Given the description of an element on the screen output the (x, y) to click on. 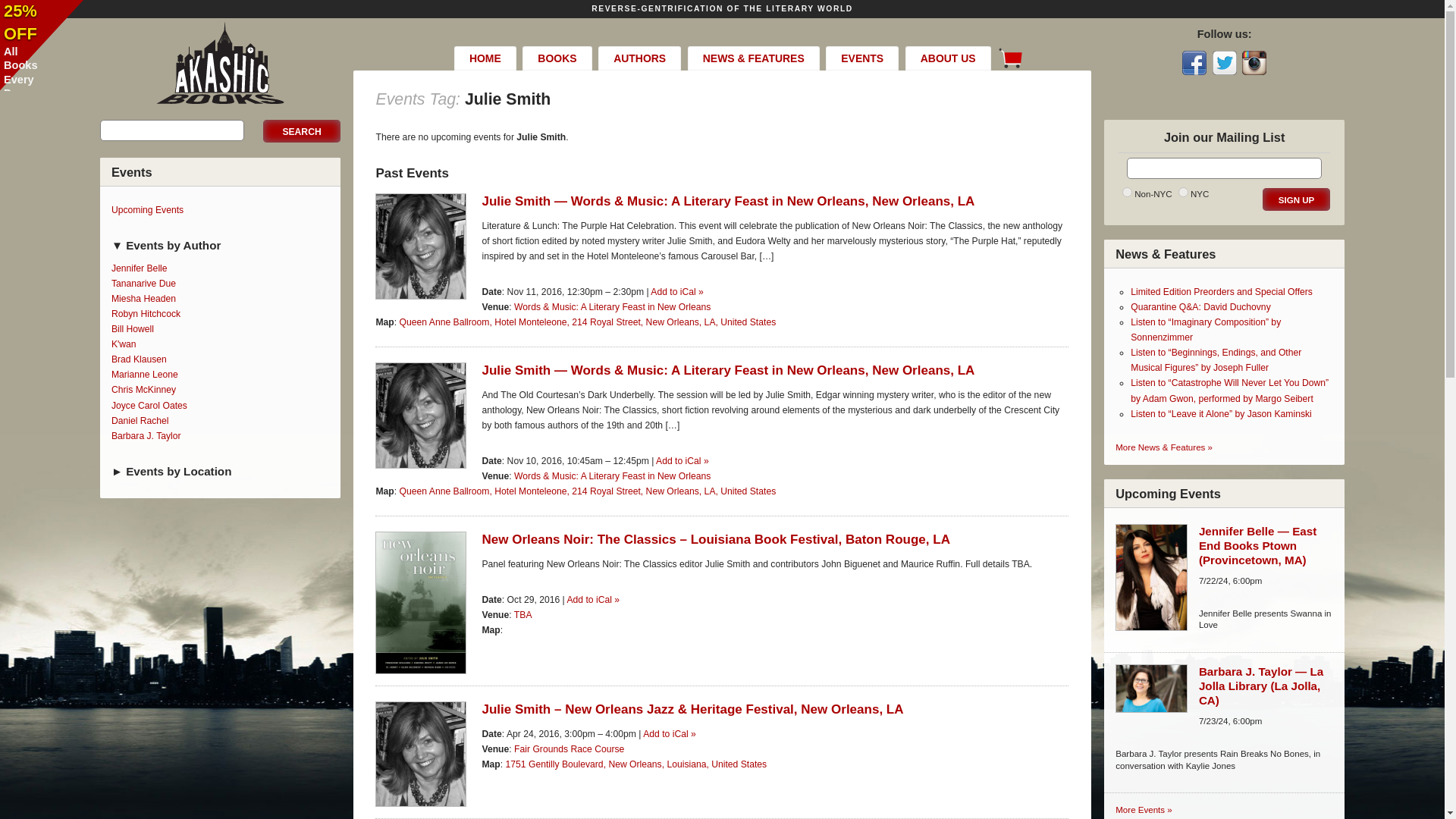
Non-NYC (1127, 192)
Search (301, 130)
Search (301, 130)
Sign Up (1296, 199)
NYC (1182, 192)
